Given the description of an element on the screen output the (x, y) to click on. 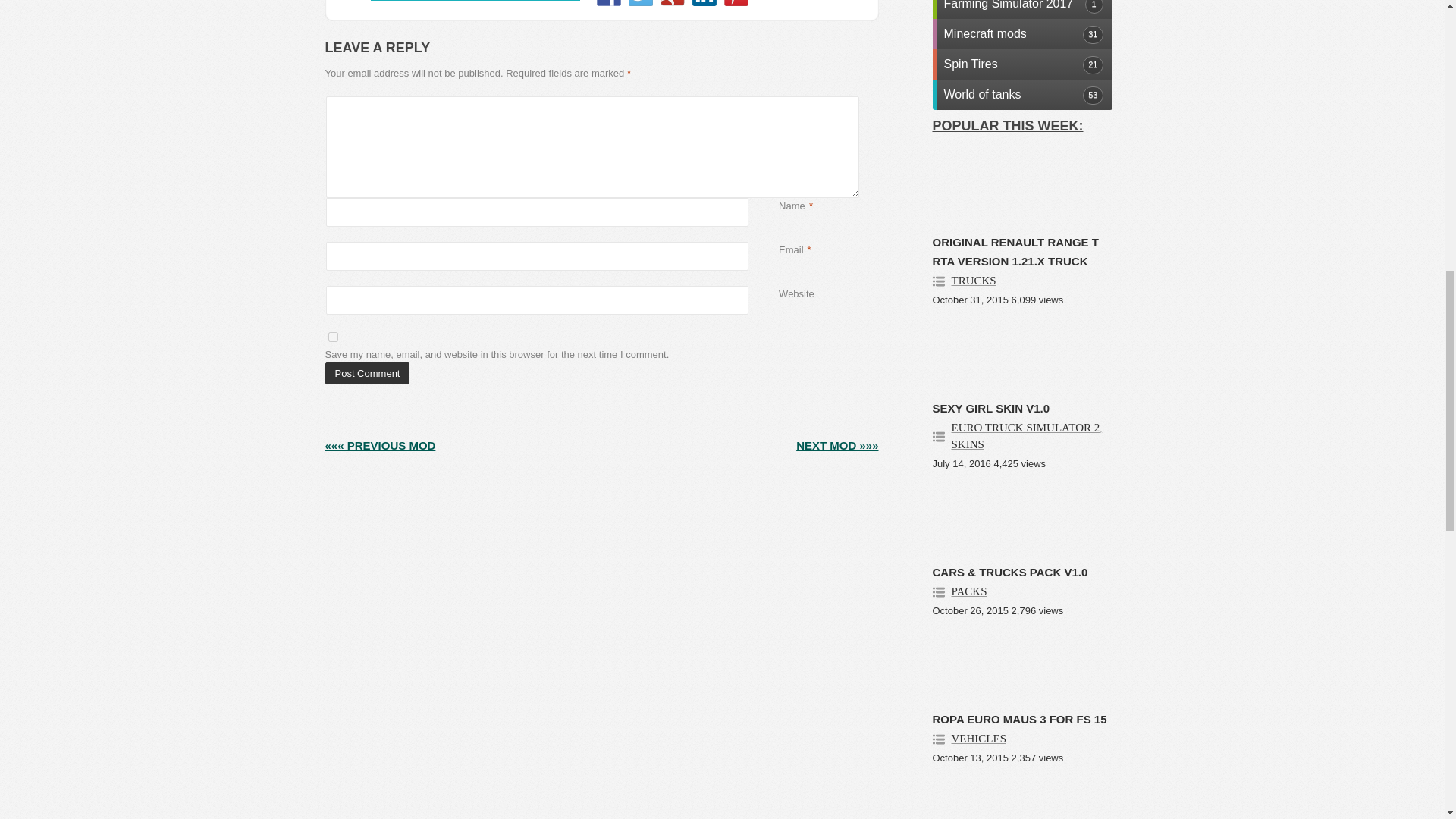
yes (332, 337)
Post Comment (366, 373)
Post Comment (366, 373)
ORIGINAL RENAULT RANGE T RTA VERSION 1.21.X TRUCK (1016, 251)
SEXY GIRL SKIN V1.0 (991, 408)
ROPA EURO MAUS 3 FOR FS 15 (1019, 718)
